Given the description of an element on the screen output the (x, y) to click on. 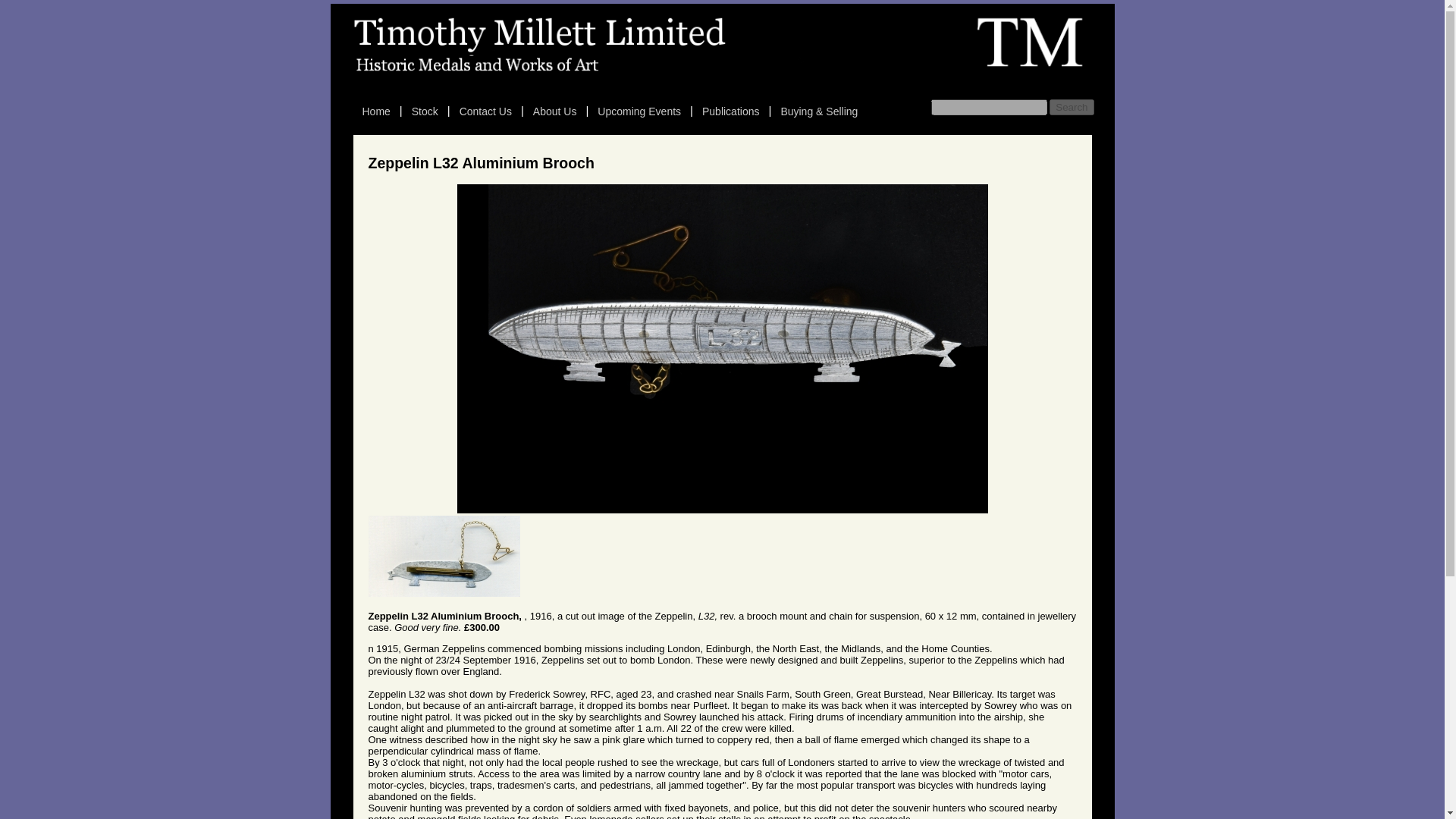
Home (375, 111)
About Us (555, 111)
Search (1071, 107)
Stock (424, 111)
Publications (730, 111)
Contact Us (485, 111)
Search (1071, 107)
Upcoming Events (639, 111)
